Given the description of an element on the screen output the (x, y) to click on. 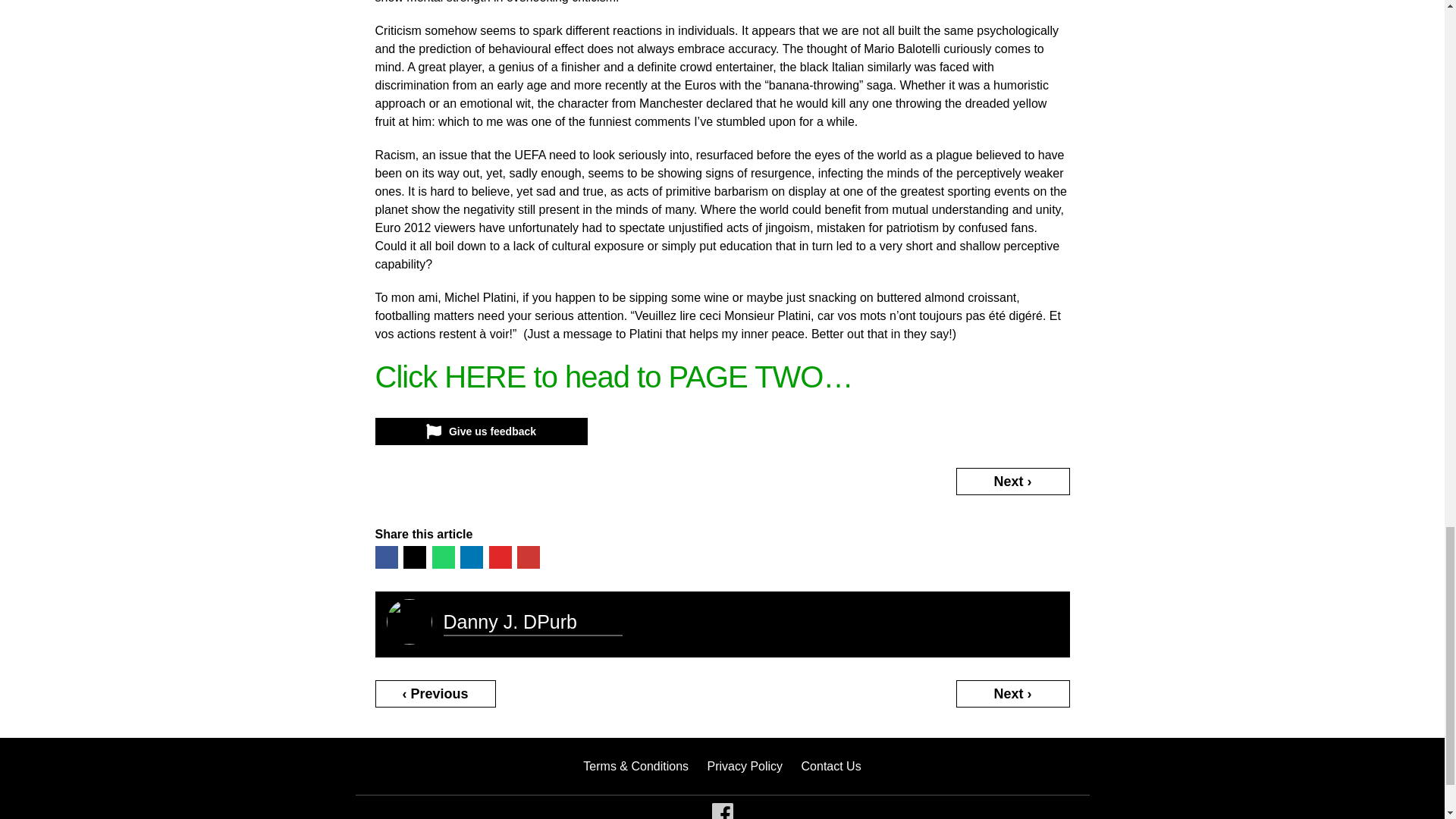
Give us feedback (480, 431)
share on WhatsApp (443, 557)
share on Email (528, 557)
share on Twitter (414, 557)
share on Facebook (385, 557)
share on Flipboard (499, 557)
share on LinkedIn (471, 557)
Danny J. DPurb (509, 621)
